Given the description of an element on the screen output the (x, y) to click on. 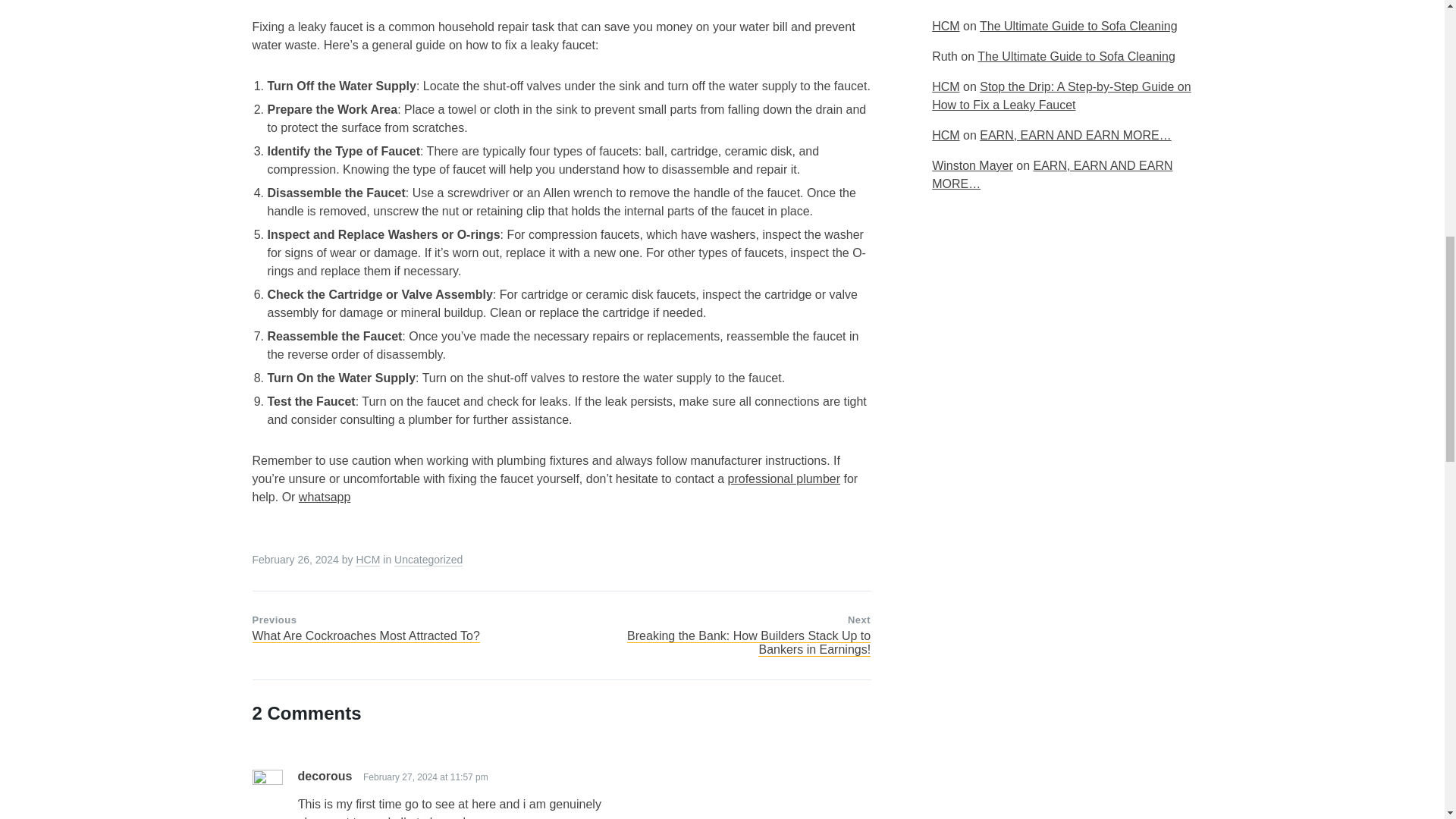
professional plumber (784, 478)
whatsapp (324, 496)
February 27, 2024 at 11:57 pm (424, 777)
What Are Cockroaches Most Attracted To? (365, 635)
HCM (367, 559)
Previous (274, 619)
Uncategorized (428, 559)
Next (858, 619)
decorous (324, 775)
